Given the description of an element on the screen output the (x, y) to click on. 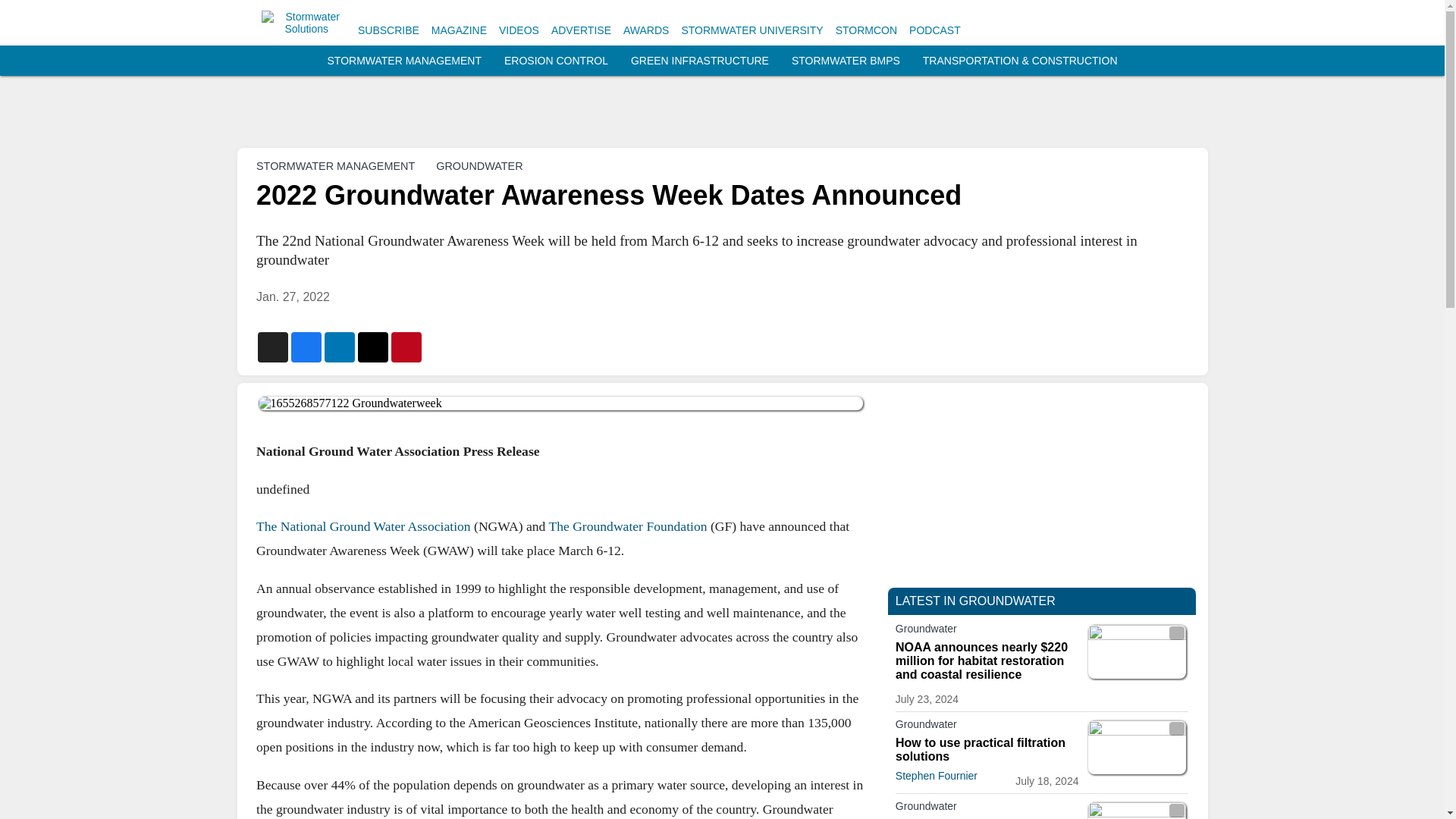
STORMWATER UNIVERSITY (751, 30)
GREEN INFRASTRUCTURE (699, 60)
Groundwater (986, 727)
Groundwater (986, 631)
The National Ground Water Association (363, 525)
1655268577122 Groundwaterweek (559, 403)
Stephen Fournier (935, 775)
GROUNDWATER (478, 165)
STORMWATER BMPS (845, 60)
STORMWATER MANAGEMENT (404, 60)
EROSION CONTROL (555, 60)
SUBSCRIBE (388, 30)
ADVERTISE (581, 30)
STORMWATER MANAGEMENT (335, 165)
How to use practical filtration solutions (986, 749)
